Given the description of an element on the screen output the (x, y) to click on. 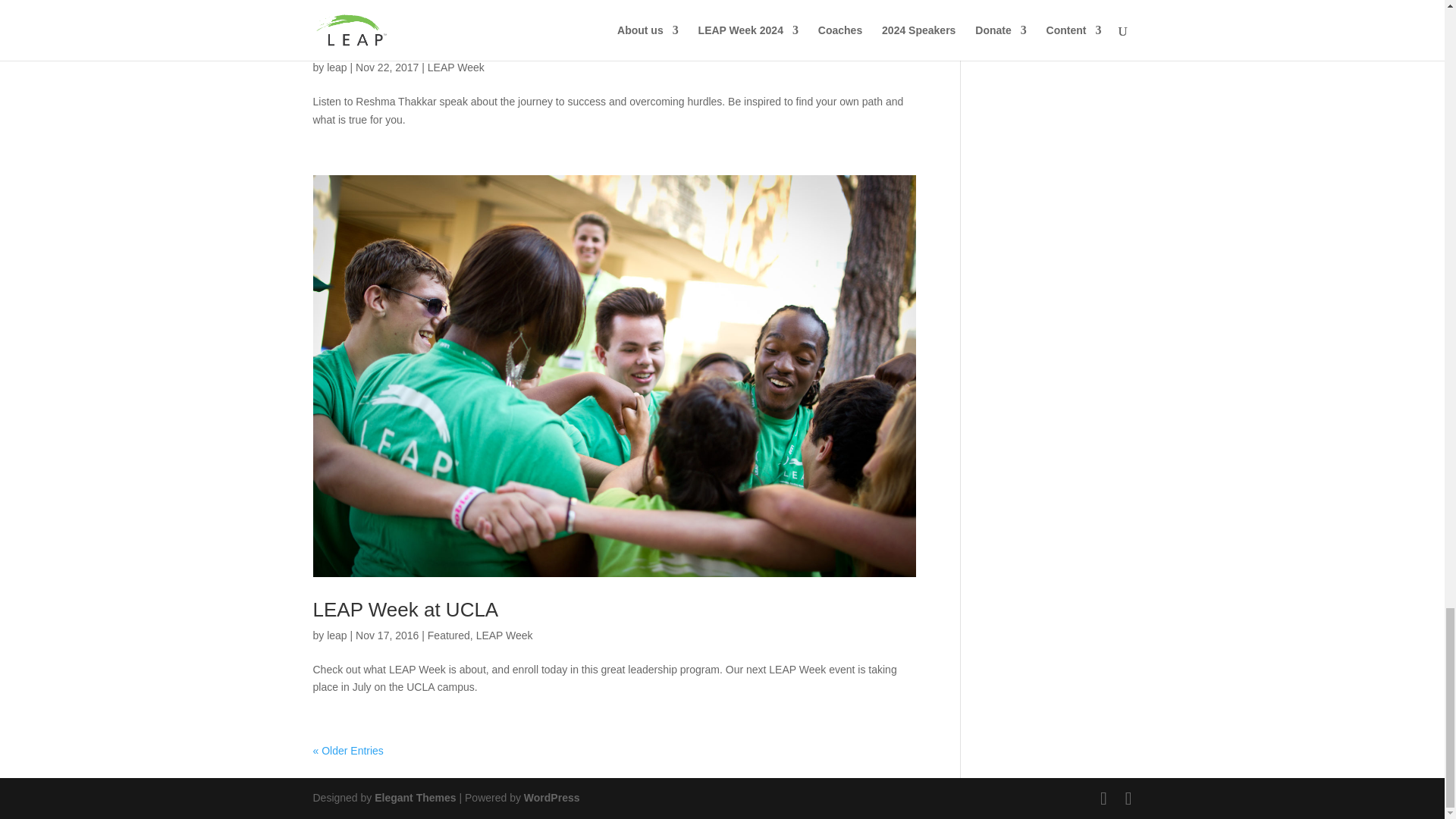
Posts by leap (336, 635)
Posts by leap (336, 67)
Premium WordPress Themes (414, 797)
